Given the description of an element on the screen output the (x, y) to click on. 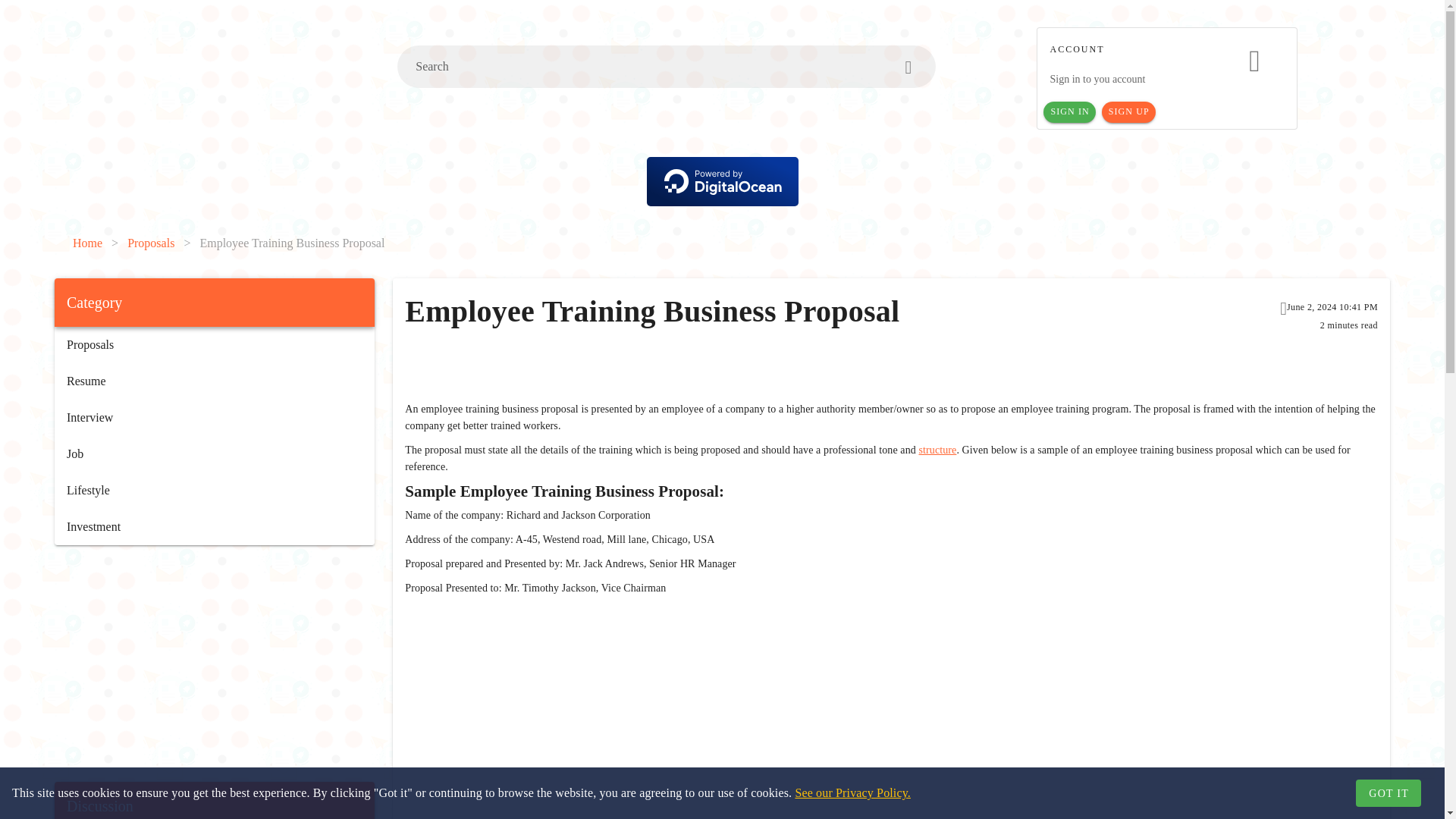
Employee Training Business Proposal (291, 243)
Advertisement (214, 663)
Interview (214, 417)
Proposals (151, 243)
structure (937, 449)
Investment (214, 526)
Lifestyle (214, 490)
Home (86, 243)
Proposals (214, 344)
Job (214, 453)
SIGN UP (1129, 111)
SIGN IN (1068, 111)
Resume (214, 381)
